Given the description of an element on the screen output the (x, y) to click on. 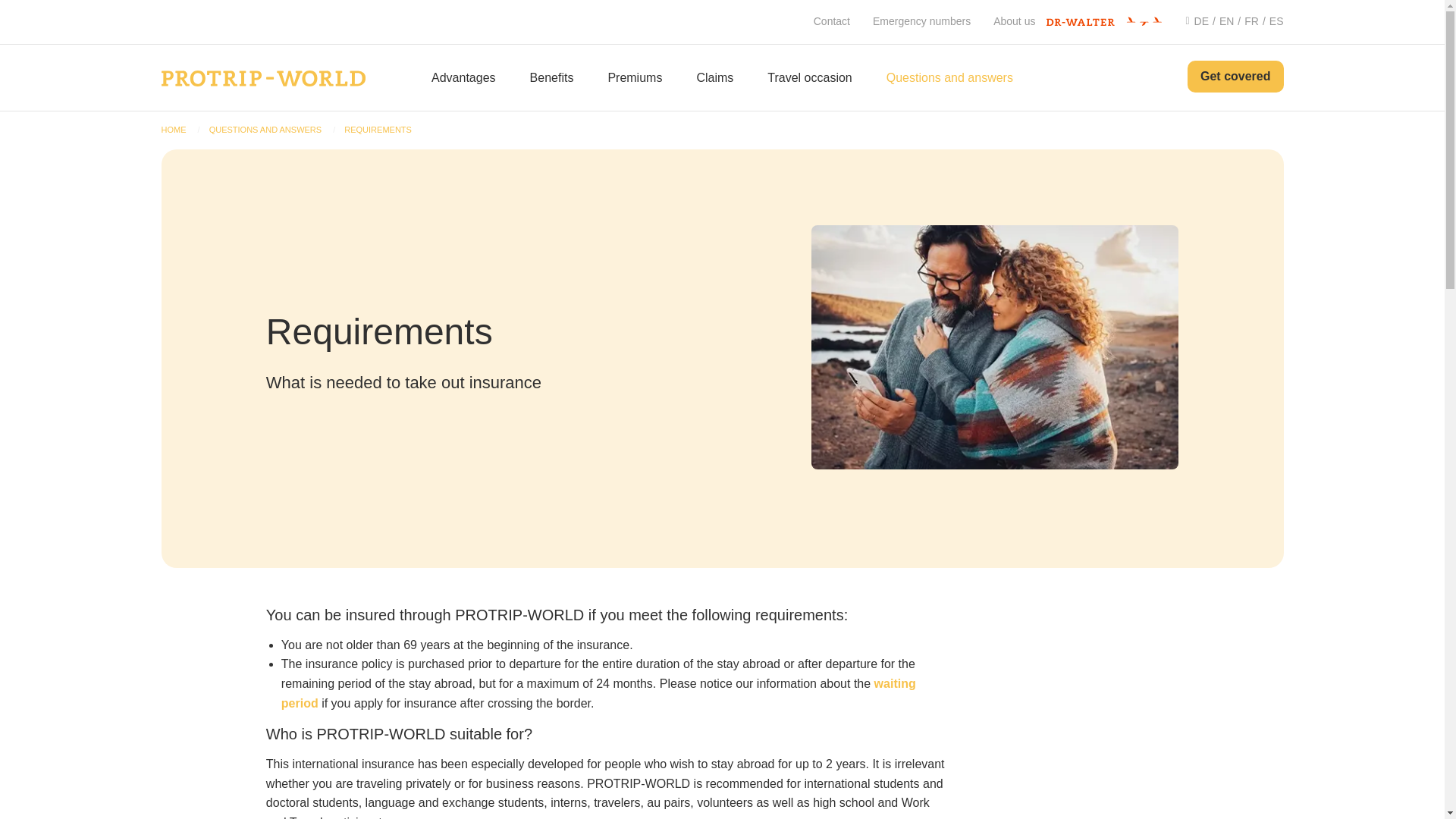
Questions and answers (950, 77)
ES (1271, 21)
Benefits (551, 77)
Emergency numbers (921, 21)
Travel occasion (809, 77)
Advantages (463, 77)
Emergency numbers (921, 21)
EN (1220, 21)
Advantages (463, 77)
FR (1246, 21)
